Given the description of an element on the screen output the (x, y) to click on. 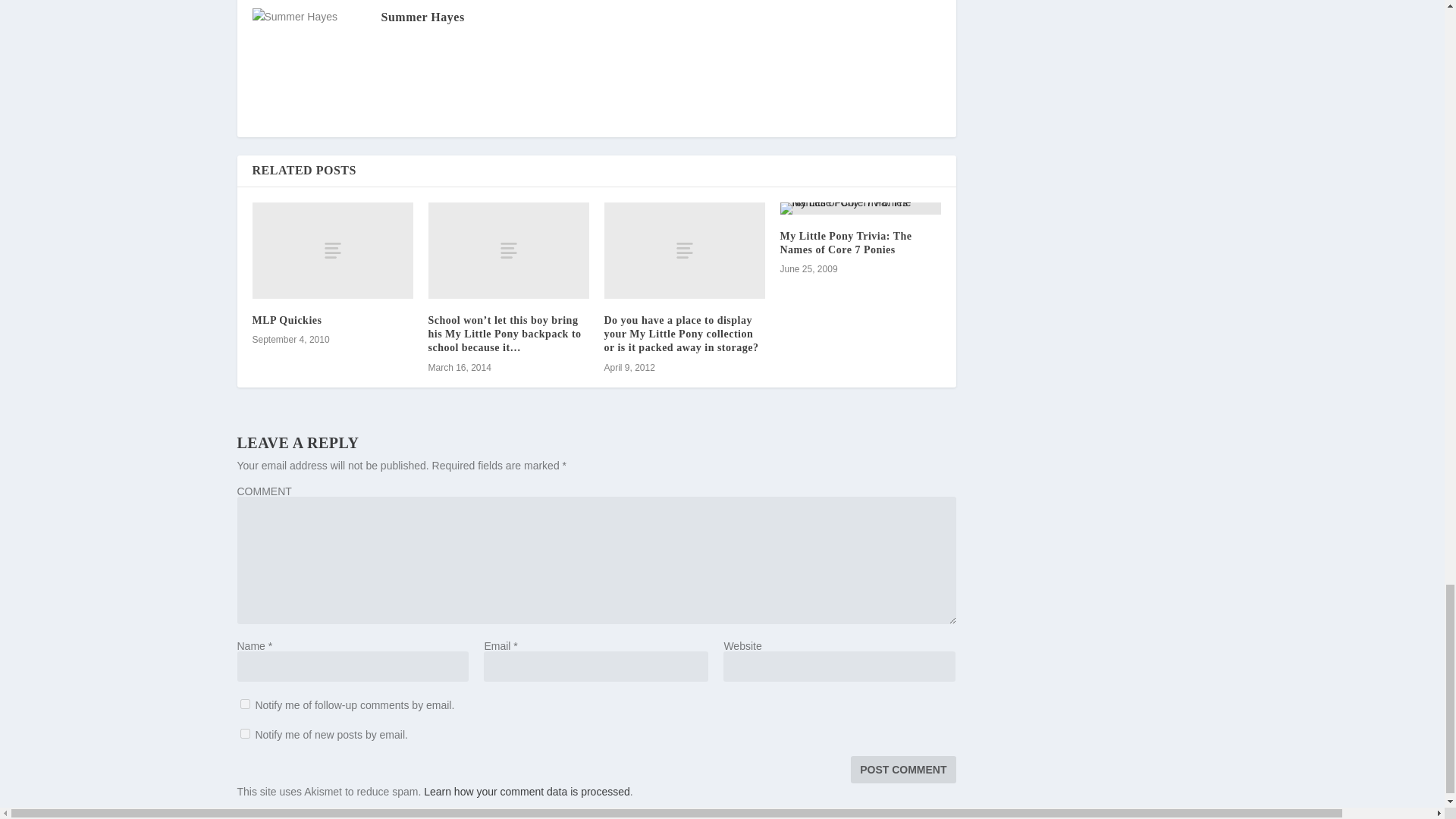
subscribe (244, 733)
subscribe (244, 704)
Post Comment (902, 768)
